Given the description of an element on the screen output the (x, y) to click on. 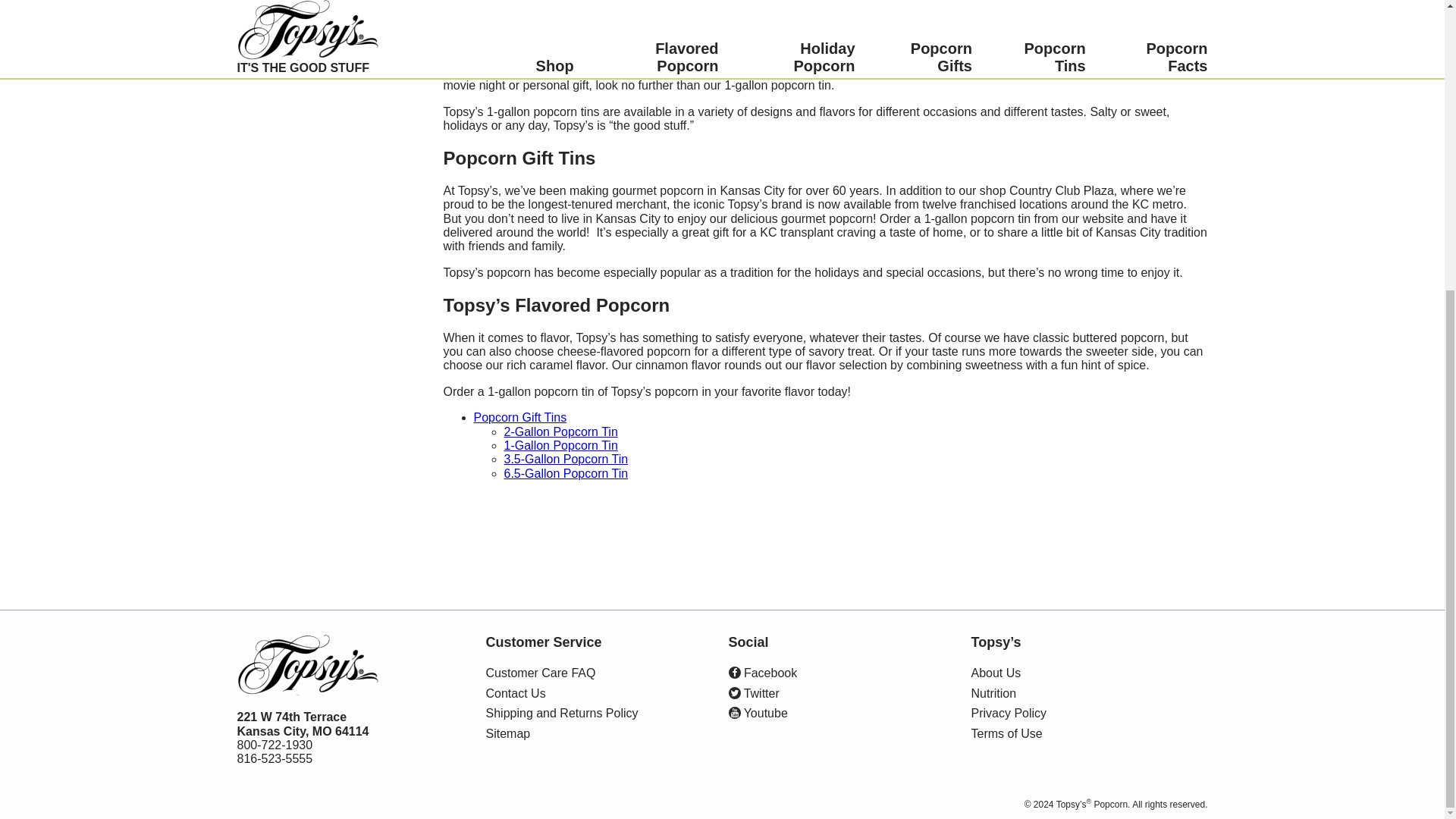
Youtube (757, 713)
Shipping and Returns Policy (560, 713)
800-722-1930 (274, 745)
About Us (995, 673)
2-Gallon Popcorn Tin (560, 431)
Facebook (762, 673)
816-523-5555 (274, 758)
6.5-Gallon Popcorn Tin (565, 472)
Nutrition (993, 694)
3.5-Gallon Popcorn Tin (565, 459)
Customer Care FAQ (539, 673)
Terms of Use (1006, 734)
1-Gallon Popcorn Tin (560, 445)
Contact Us (514, 694)
Sitemap (506, 734)
